Given the description of an element on the screen output the (x, y) to click on. 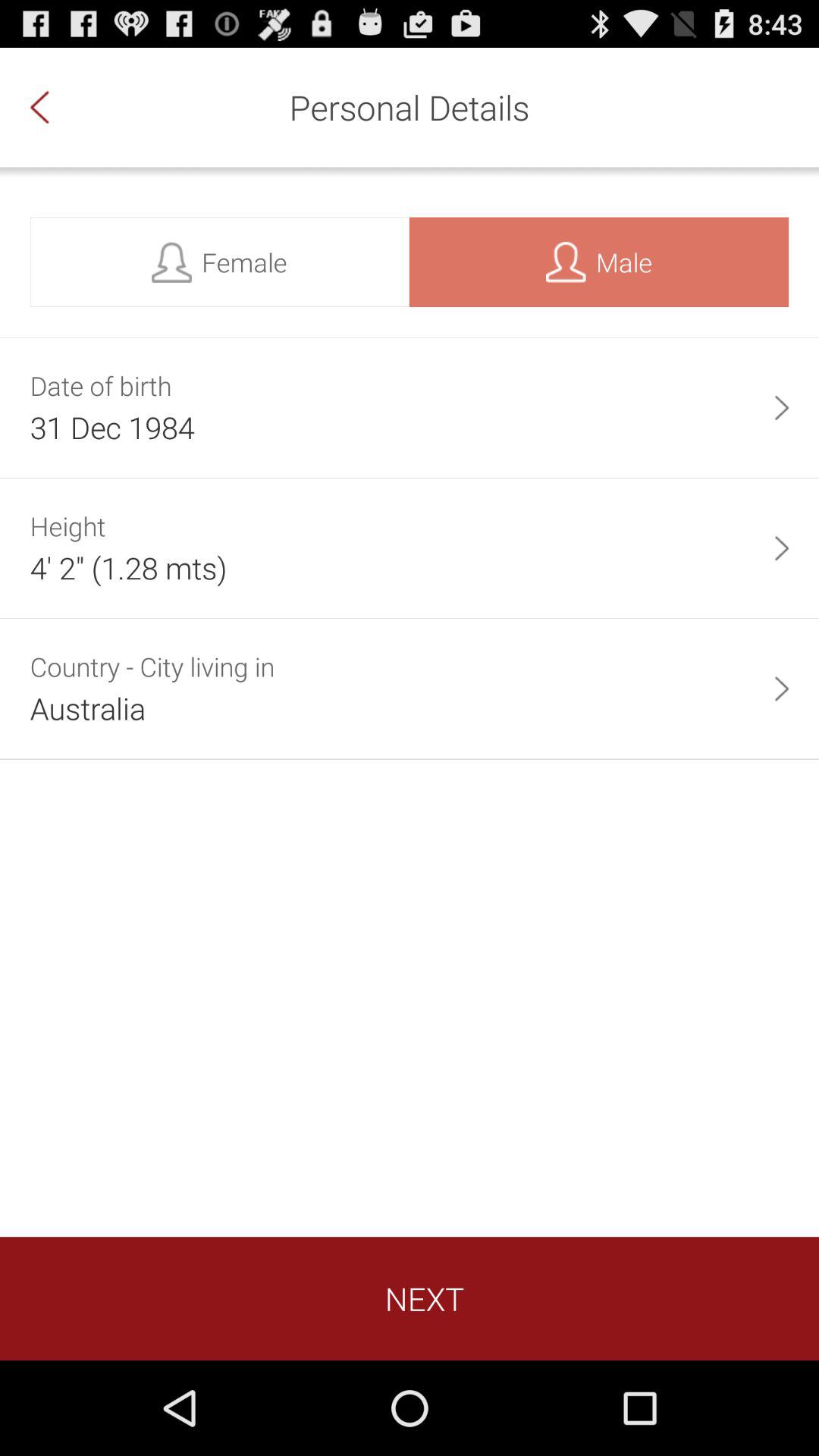
click the icon next to country city living item (781, 688)
